Given the description of an element on the screen output the (x, y) to click on. 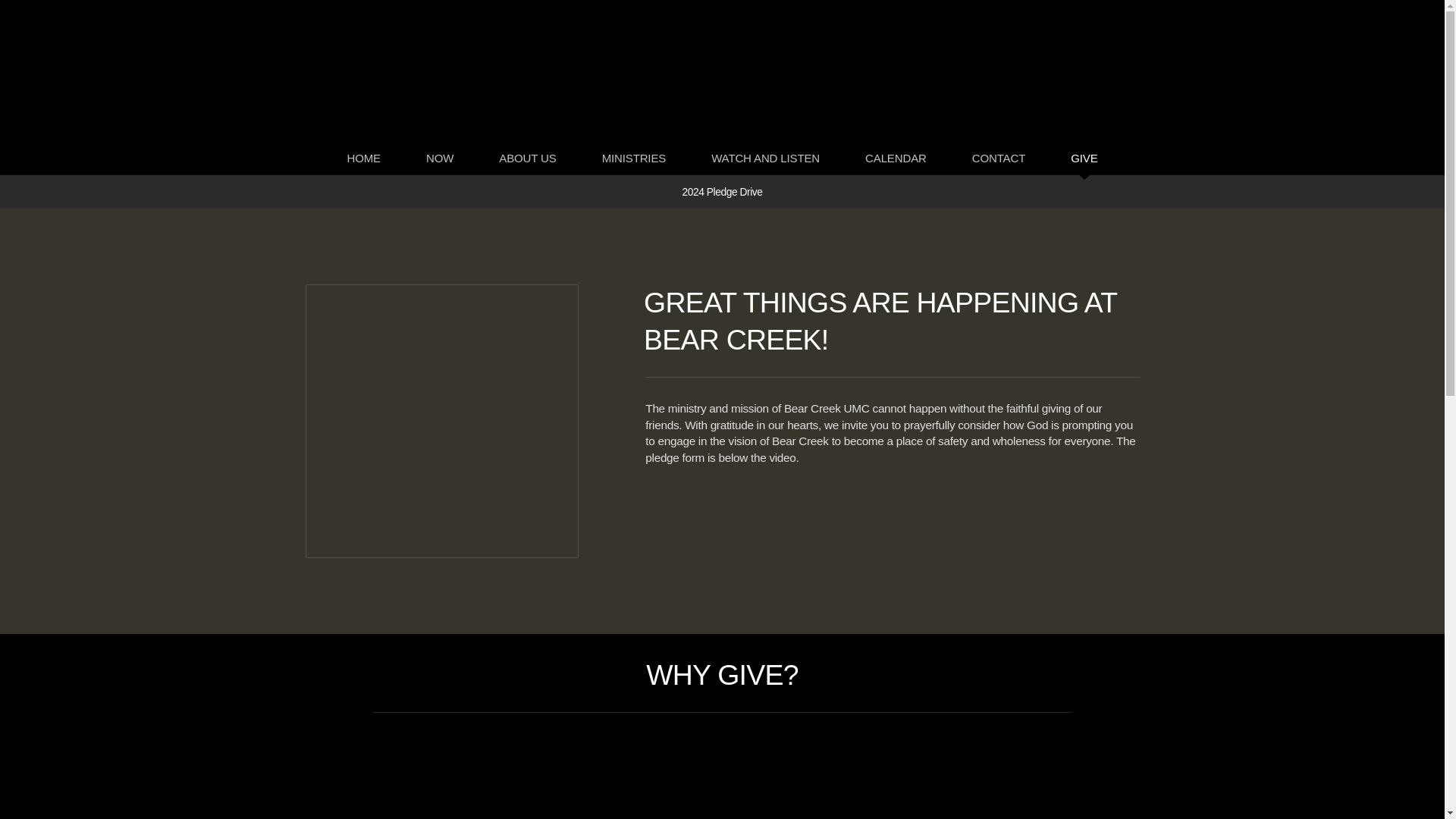
HOME (363, 157)
NOW (439, 157)
